Given the description of an element on the screen output the (x, y) to click on. 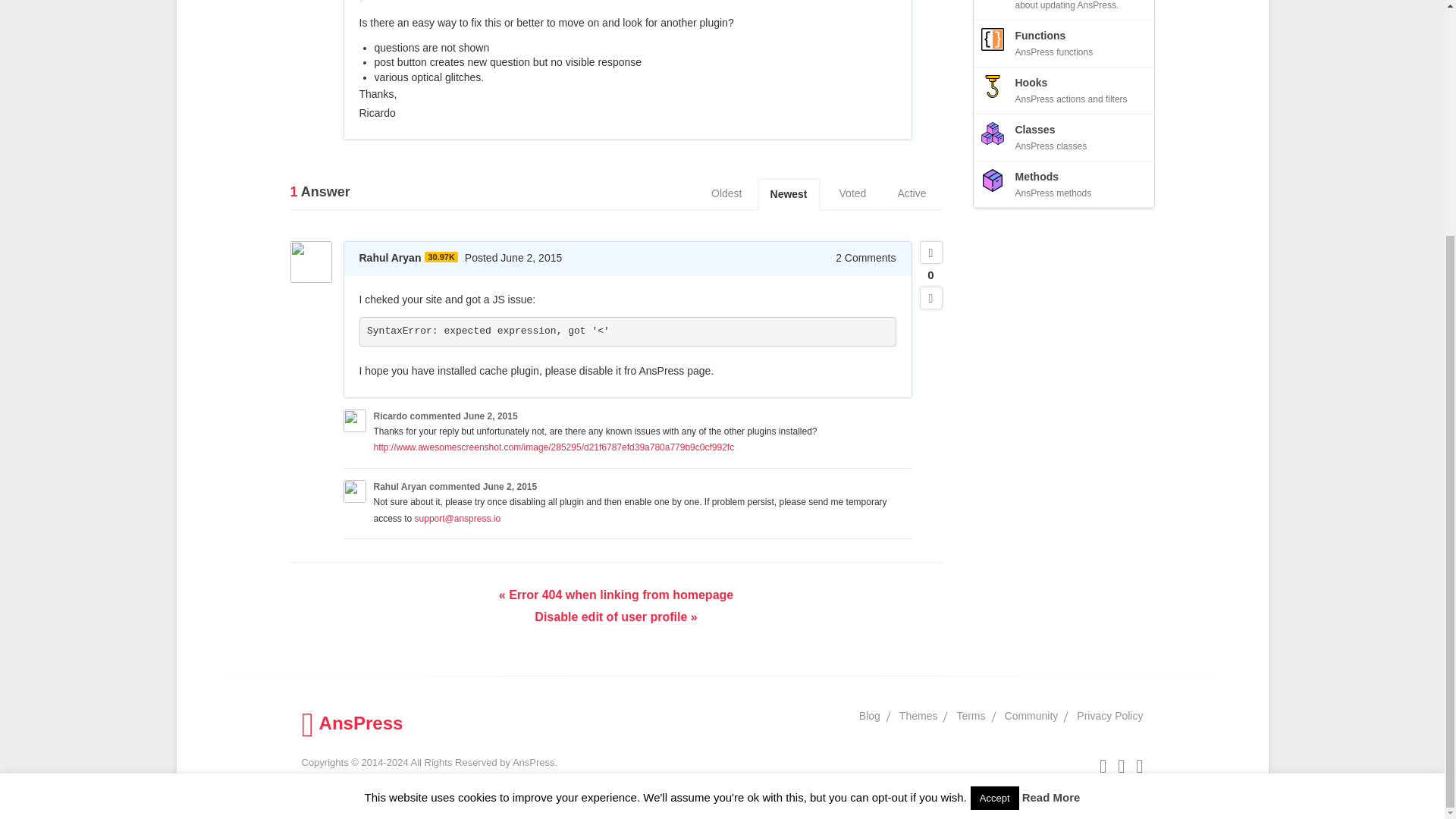
Down vote this post (930, 297)
Reputation (441, 256)
Voted (853, 193)
Active (911, 193)
Oldest (726, 193)
Up vote this post (930, 251)
Posted June 2, 2015 (513, 257)
Newest (789, 194)
June 2, 2015 (489, 416)
30.97K (441, 256)
